Given the description of an element on the screen output the (x, y) to click on. 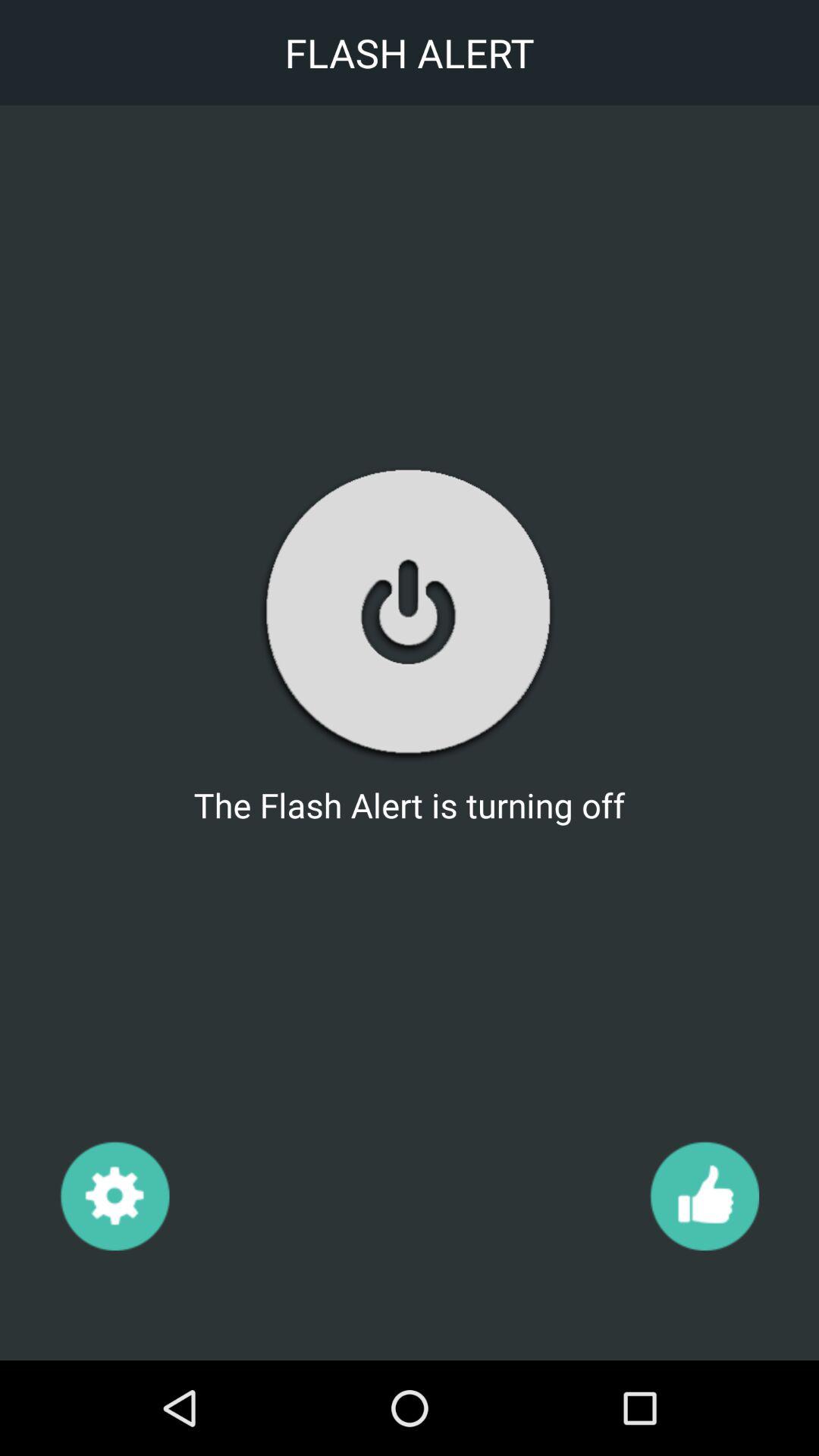
thumbs up (704, 1195)
